Given the description of an element on the screen output the (x, y) to click on. 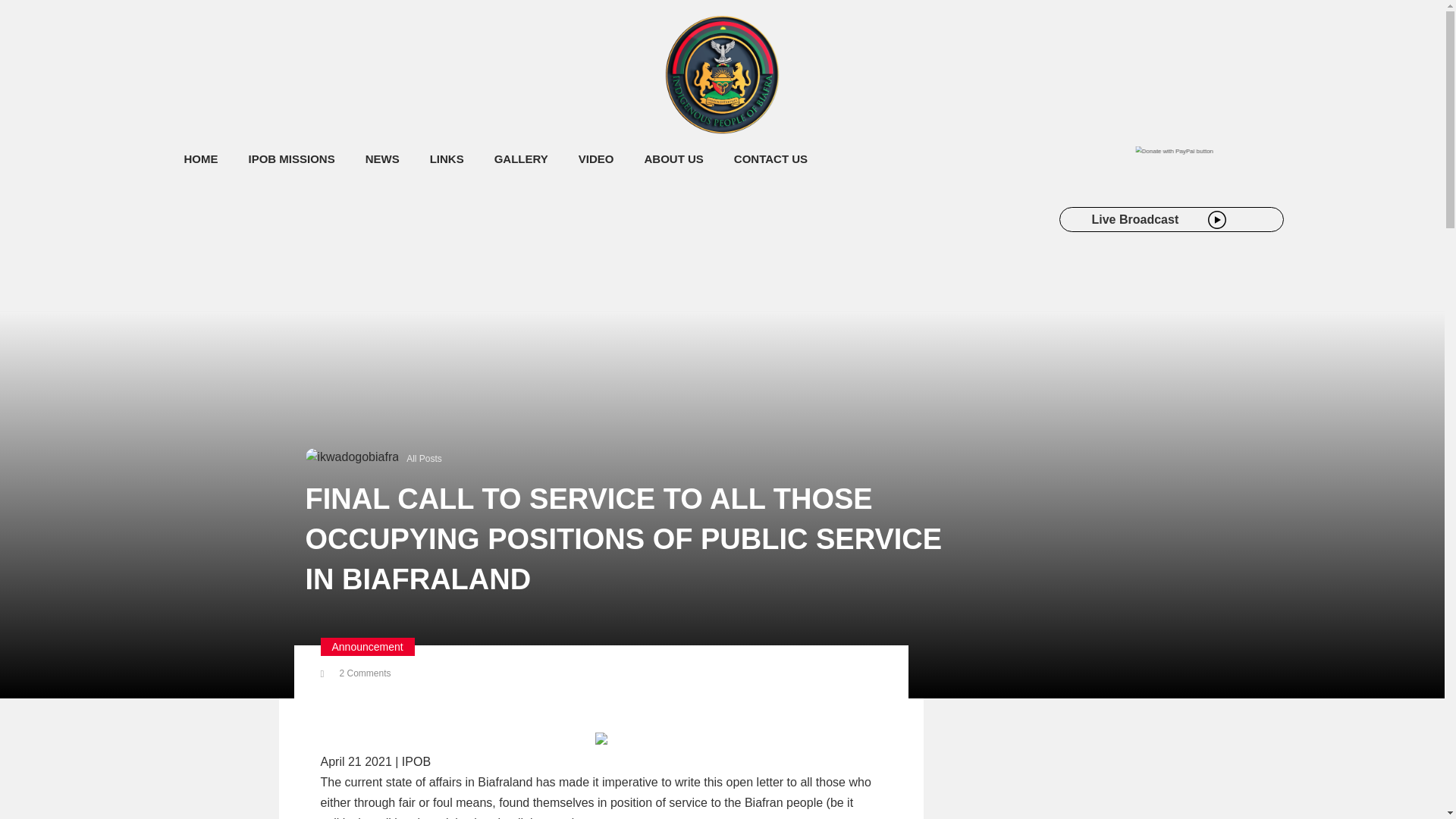
VIDEO (595, 158)
HOME (200, 158)
All Posts (424, 458)
PayPal - The safer, easier way to pay online! (1213, 155)
IPOB MISSIONS (291, 158)
ABOUT US (673, 158)
NEWS (382, 158)
LINKS (446, 158)
